Given the description of an element on the screen output the (x, y) to click on. 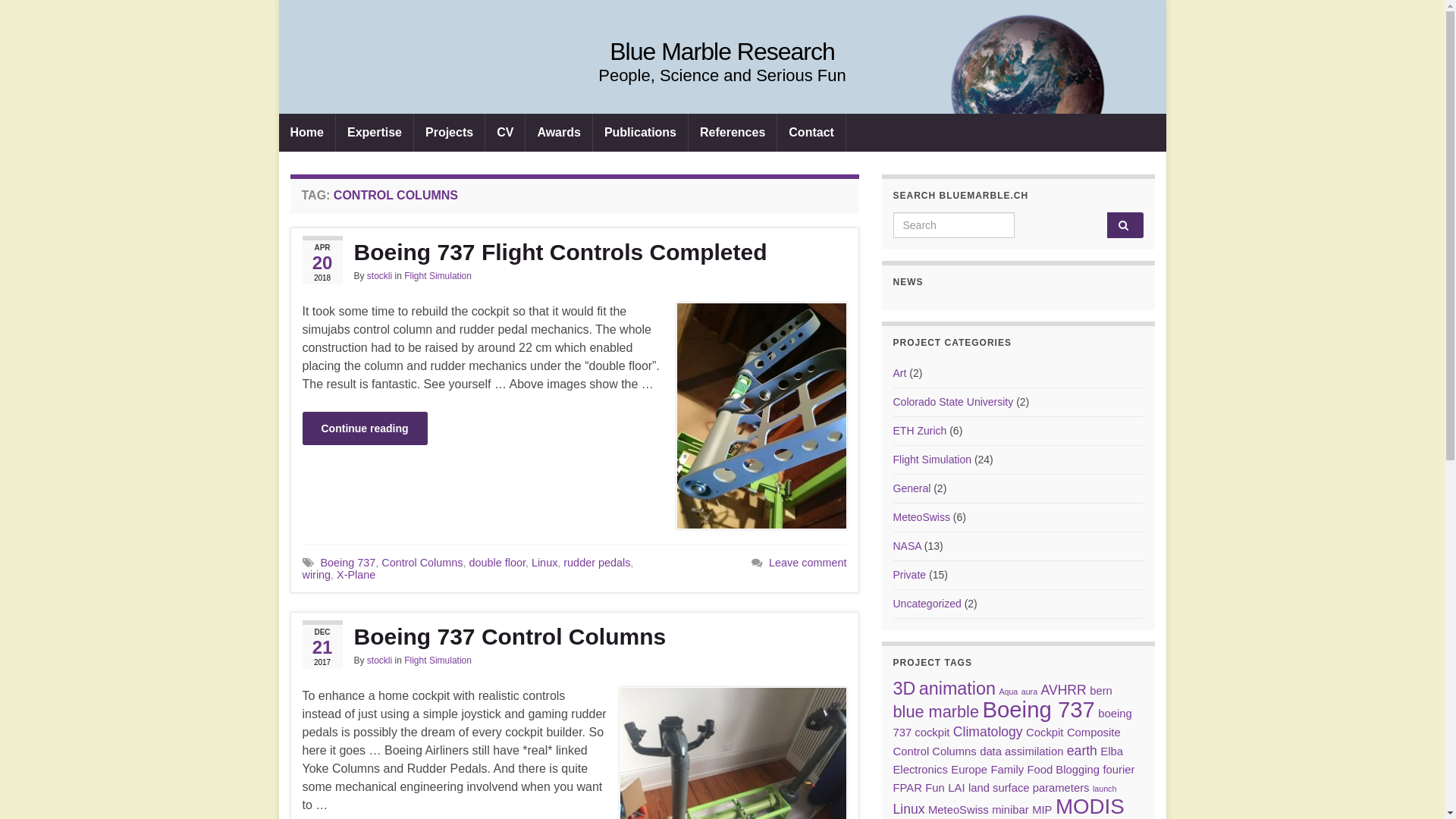
Flight Simulation Element type: text (437, 275)
double floor Element type: text (496, 562)
Leave comment Element type: text (807, 562)
Colorado State University Element type: text (953, 401)
stockli Element type: text (379, 660)
Awards Element type: text (558, 132)
Food Blogging Element type: text (1063, 769)
Climatology Element type: text (987, 731)
MeteoSwiss Element type: text (958, 809)
launch Element type: text (1104, 788)
Control Columns Element type: text (934, 751)
land surface parameters Element type: text (1028, 787)
ETH Zurich Element type: text (920, 430)
Linux Element type: text (909, 808)
boeing 737 cockpit Element type: text (1012, 722)
animation Element type: text (957, 688)
FPAR Element type: text (907, 787)
data assimilation Element type: text (1021, 751)
MODIS Element type: text (1089, 806)
CV Element type: text (504, 132)
bern Element type: text (1100, 690)
Aqua Element type: text (1007, 691)
aura Element type: text (1029, 691)
Boeing 737 Element type: text (1038, 708)
Boeing 737 Control Columns Element type: text (573, 636)
3D Element type: text (904, 688)
stockli Element type: text (379, 275)
X-Plane Element type: text (355, 574)
minibar Element type: text (1010, 809)
wiring Element type: text (315, 574)
Contact Element type: text (811, 132)
LAI Element type: text (955, 787)
Boeing 737 Flight Controls Completed Element type: text (573, 252)
Composite Element type: text (1093, 732)
fourier Element type: text (1118, 769)
Family Element type: text (1006, 769)
Blue Marble Research Element type: text (721, 51)
blue marble Element type: text (936, 711)
rudder pedals Element type: text (596, 562)
Elba Element type: text (1111, 751)
NASA Element type: text (907, 545)
Europe Element type: text (968, 769)
Linux Element type: text (544, 562)
Home Element type: text (307, 132)
Flight Simulation Element type: text (437, 660)
AVHRR Element type: text (1063, 689)
Control Columns Element type: text (421, 562)
Private Element type: text (909, 574)
Projects Element type: text (449, 132)
Tags Element type: hover (307, 562)
MIP Element type: text (1041, 809)
Art Element type: text (899, 373)
earth Element type: text (1081, 750)
Electronics Element type: text (920, 769)
Continue reading Element type: text (363, 428)
References Element type: text (732, 132)
General Element type: text (912, 488)
Blue Marble Research Element type: hover (722, 91)
Expertise Element type: text (374, 132)
Fun Element type: text (934, 787)
Cockpit Element type: text (1044, 732)
Flight Simulation Element type: text (932, 459)
Publications Element type: text (640, 132)
MeteoSwiss Element type: text (921, 517)
Boeing 737 Element type: text (347, 562)
Uncategorized Element type: text (927, 603)
